Given the description of an element on the screen output the (x, y) to click on. 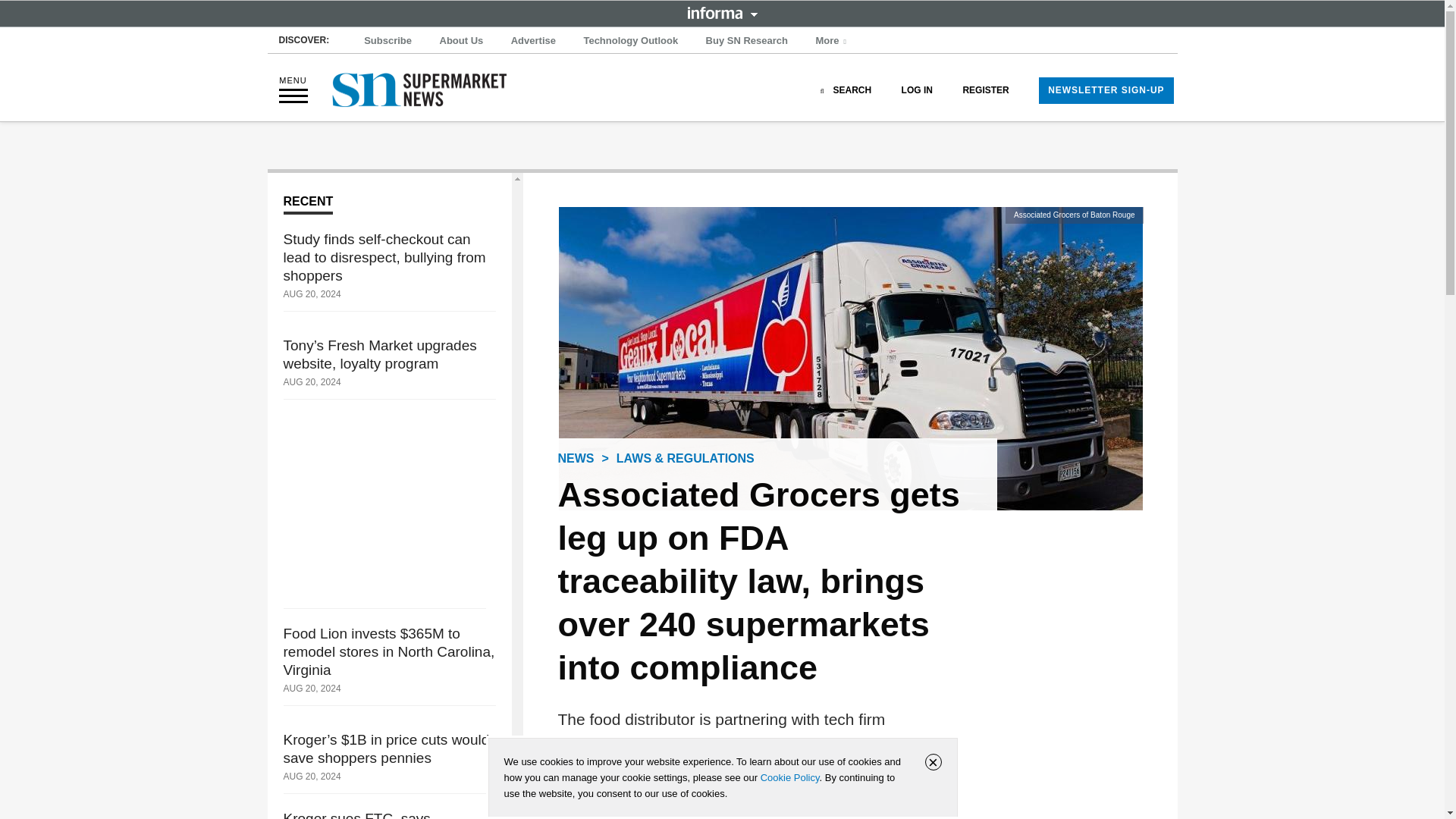
Technology Outlook (630, 41)
INFORMA (722, 12)
About Us (461, 41)
More (832, 41)
Subscribe (387, 41)
Cookie Policy (789, 777)
Advertise (533, 41)
Buy SN Research (746, 41)
